Given the description of an element on the screen output the (x, y) to click on. 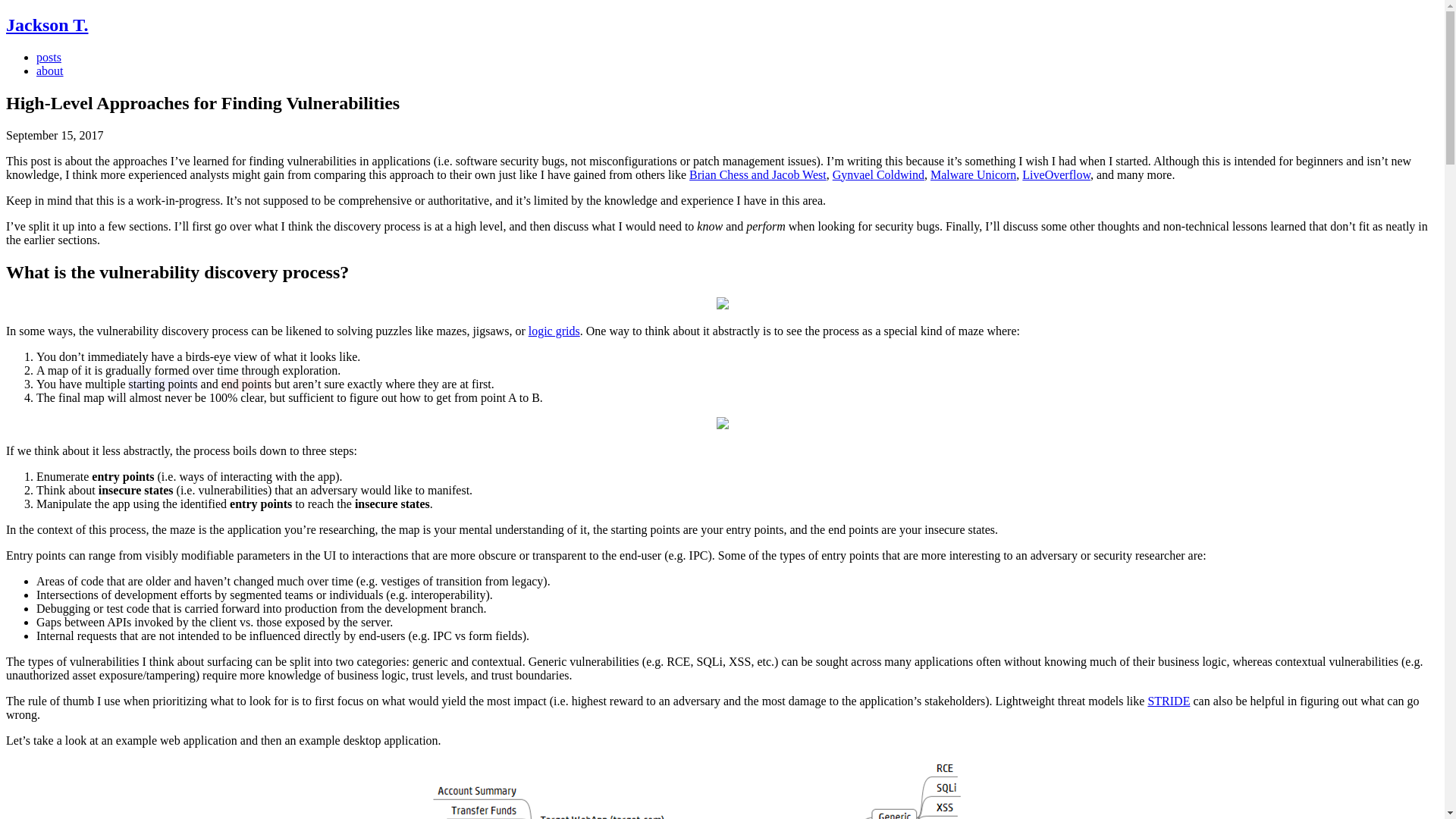
logic grids (553, 330)
Gynvael Coldwind (878, 174)
Brian Chess and Jacob West (757, 174)
Jackson T. (46, 25)
Malware Unicorn (973, 174)
about (50, 70)
LiveOverflow (1056, 174)
posts (48, 56)
STRIDE (1168, 700)
about (50, 70)
posts (48, 56)
